Given the description of an element on the screen output the (x, y) to click on. 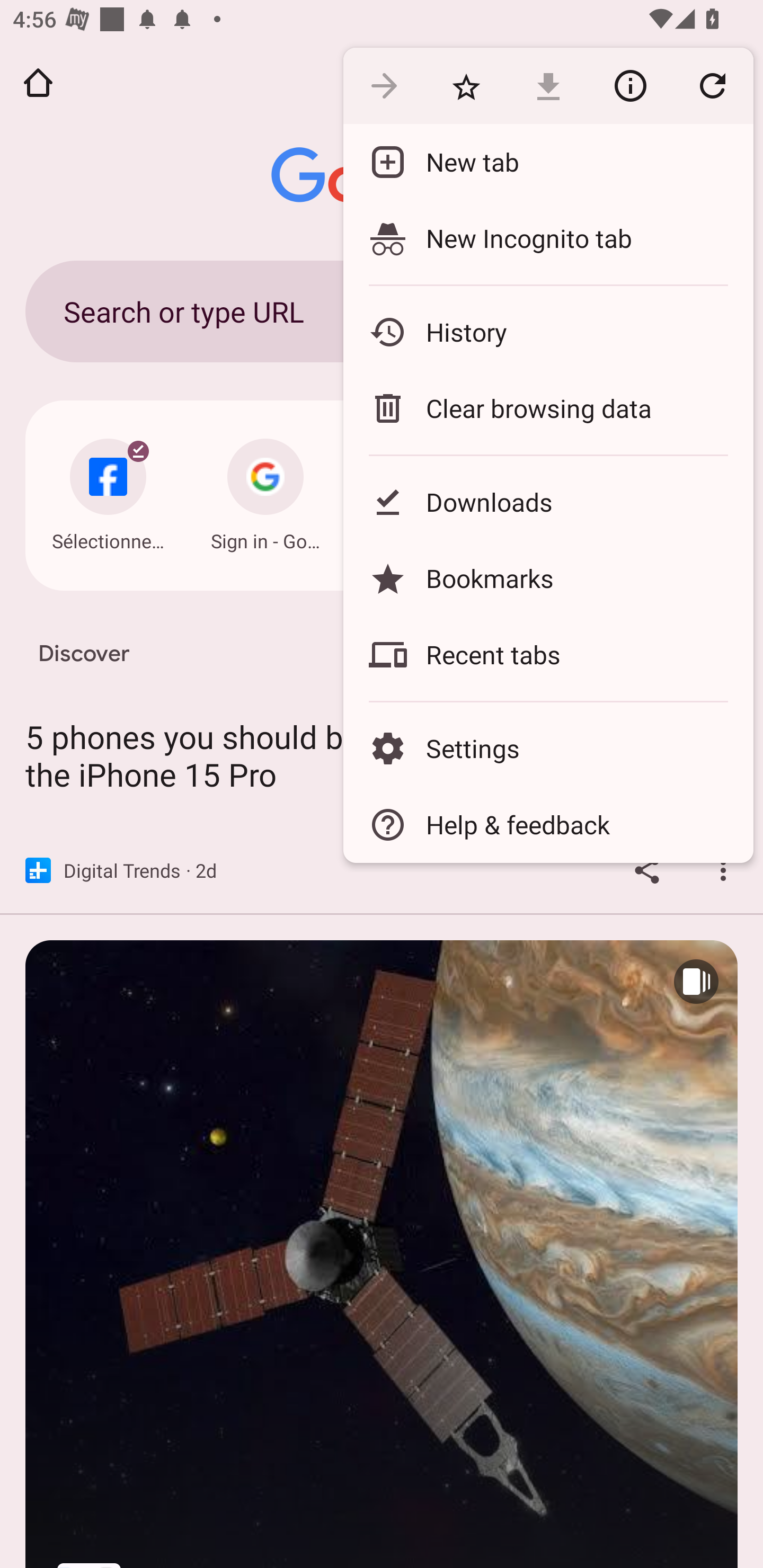
Forward (383, 85)
Bookmark (465, 85)
Download (548, 85)
Page info (630, 85)
Refresh (712, 85)
New tab (548, 161)
New Incognito tab (548, 237)
History (548, 332)
Clear browsing data (548, 408)
Downloads (548, 502)
Bookmarks (548, 578)
Recent tabs (548, 654)
Settings (548, 748)
Help & feedback (548, 824)
